Given the description of an element on the screen output the (x, y) to click on. 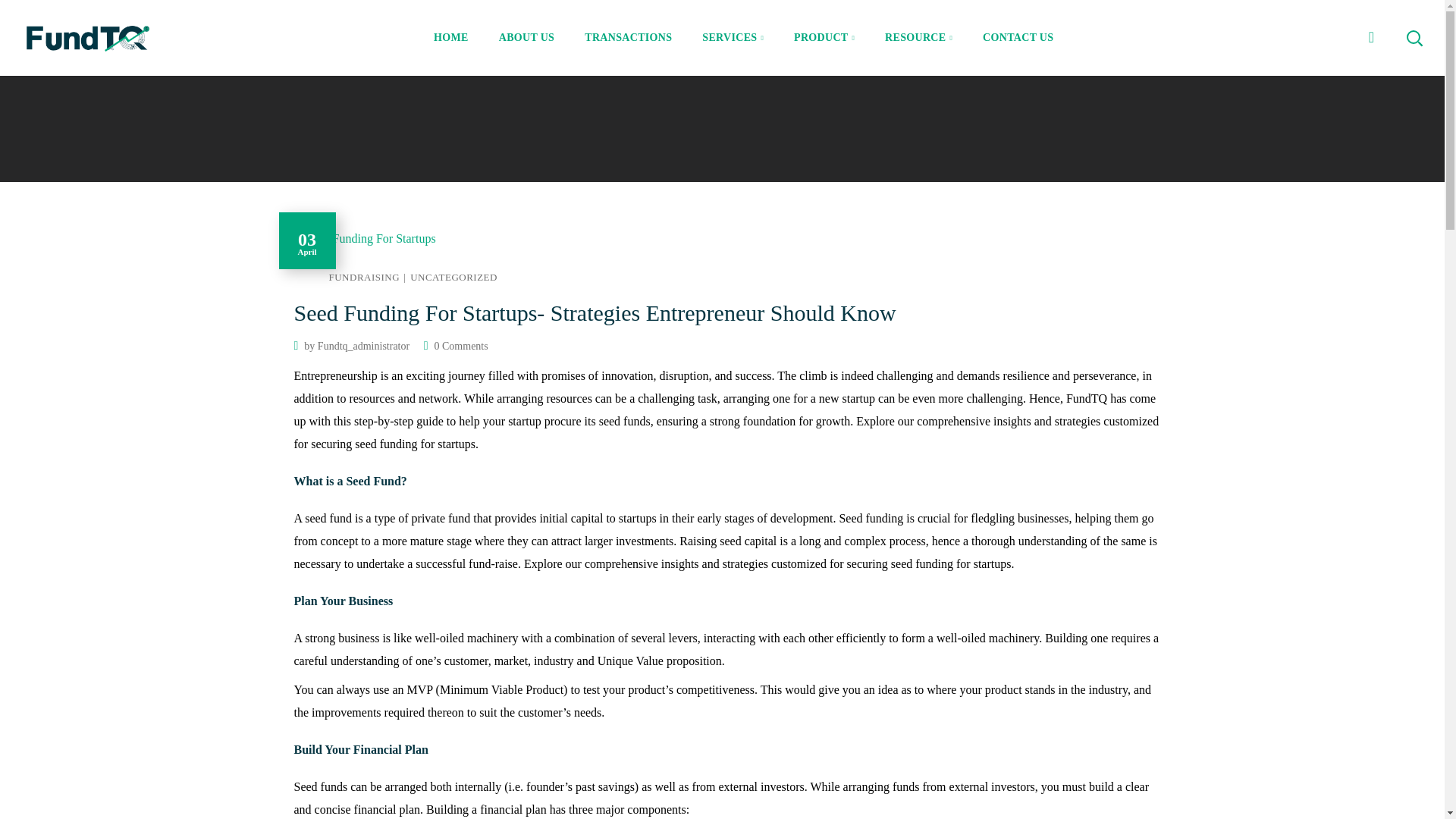
Search (1374, 113)
ABOUT US (526, 38)
RESOURCE (918, 38)
SERVICES (732, 38)
PRODUCT (823, 38)
CONTACT US (1018, 38)
TRANSACTIONS (628, 38)
